Given the description of an element on the screen output the (x, y) to click on. 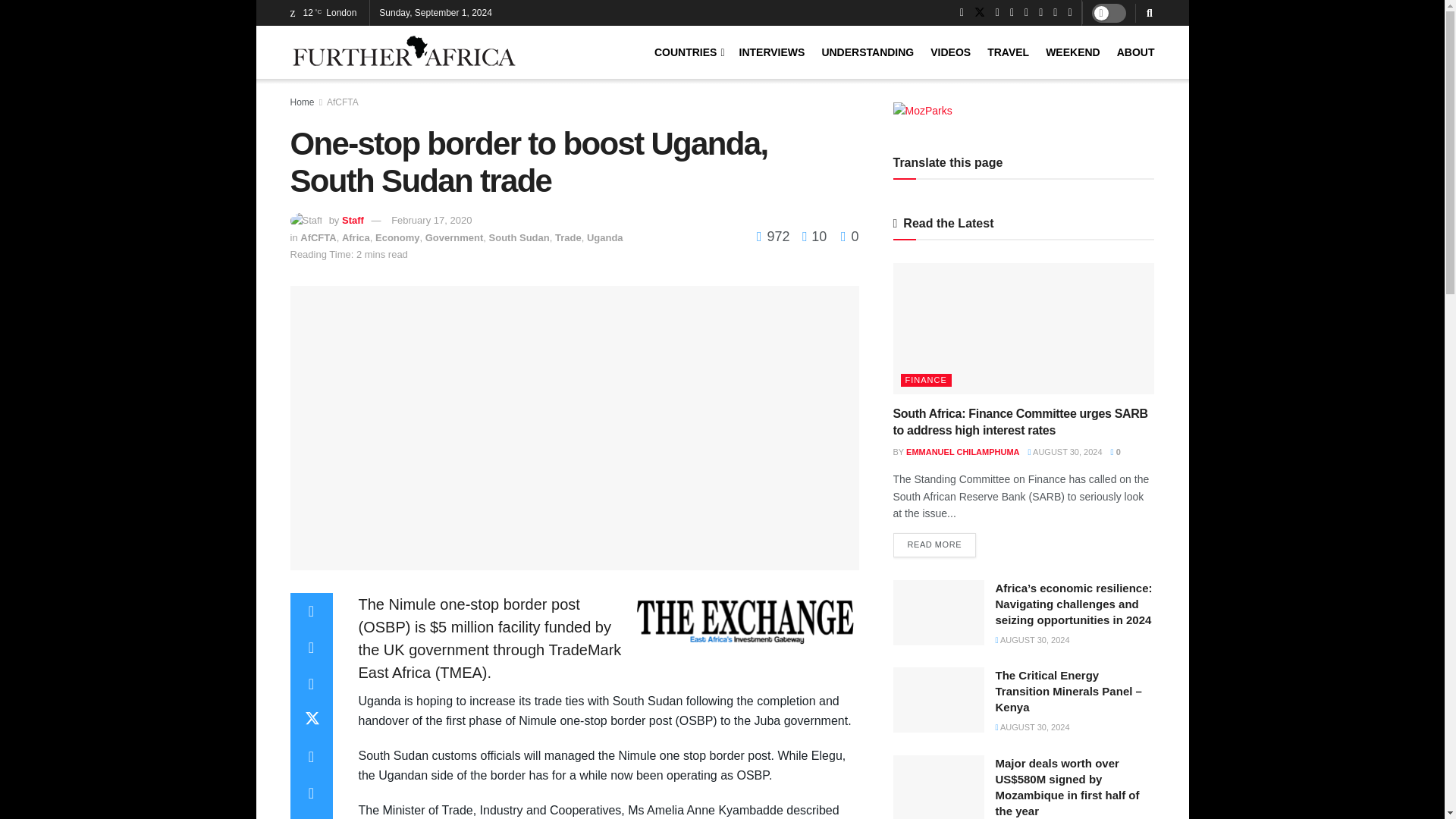
UNDERSTANDING (867, 51)
WEEKEND (1072, 51)
INTERVIEWS (772, 51)
COUNTRIES (687, 51)
